Given the description of an element on the screen output the (x, y) to click on. 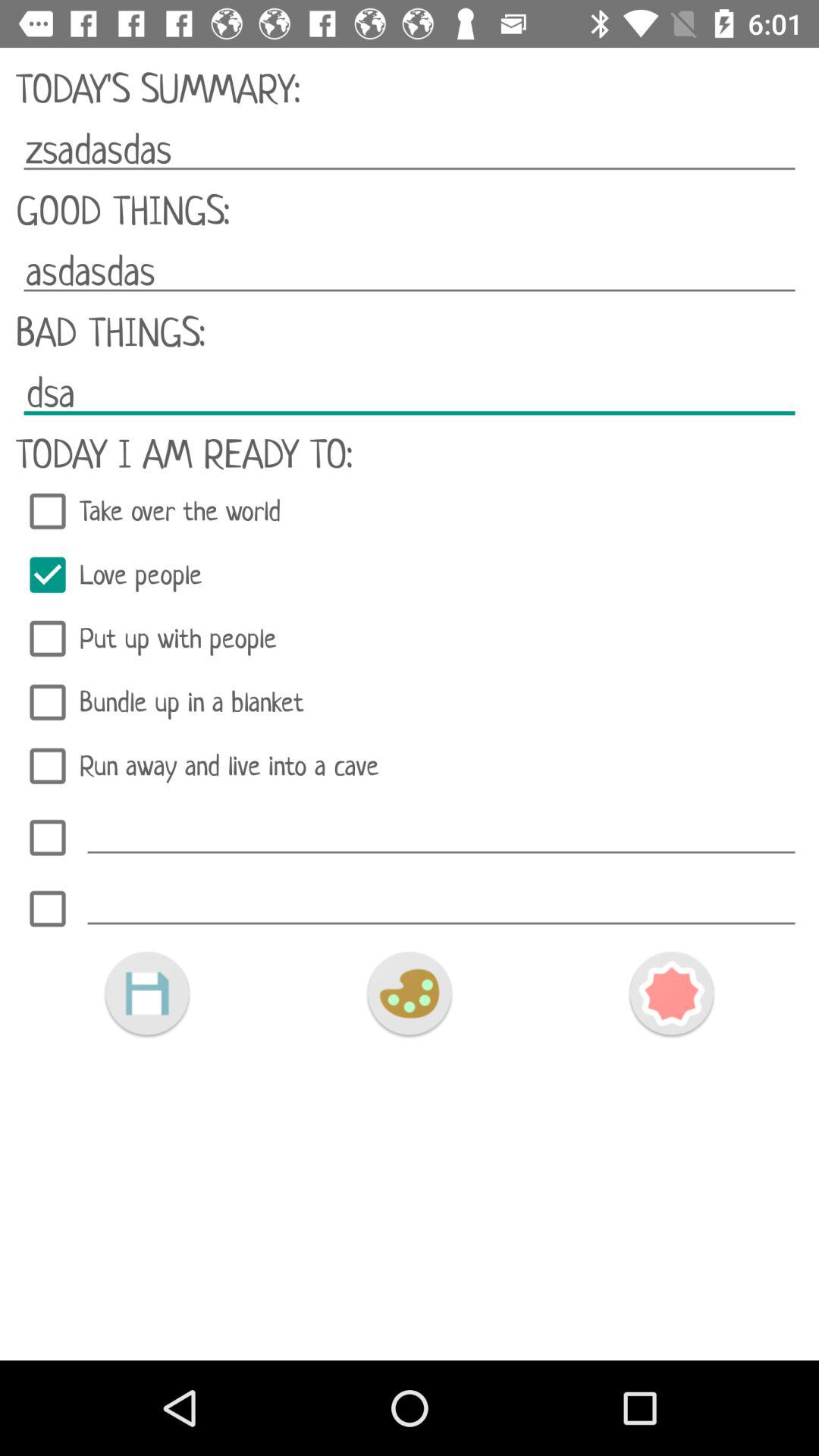
enter text (441, 833)
